Given the description of an element on the screen output the (x, y) to click on. 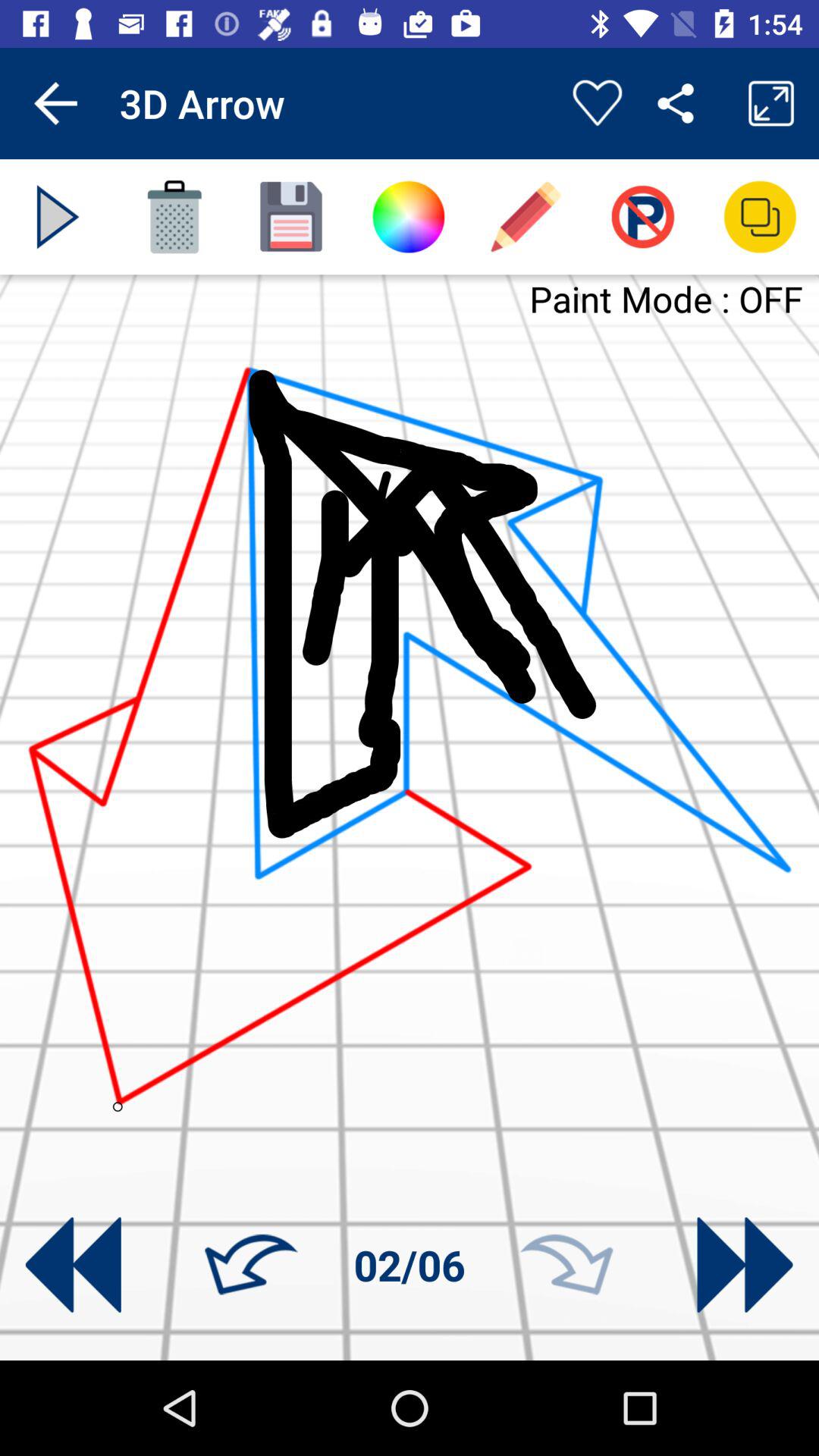
choose the app below the 3d arrow (174, 216)
